Given the description of an element on the screen output the (x, y) to click on. 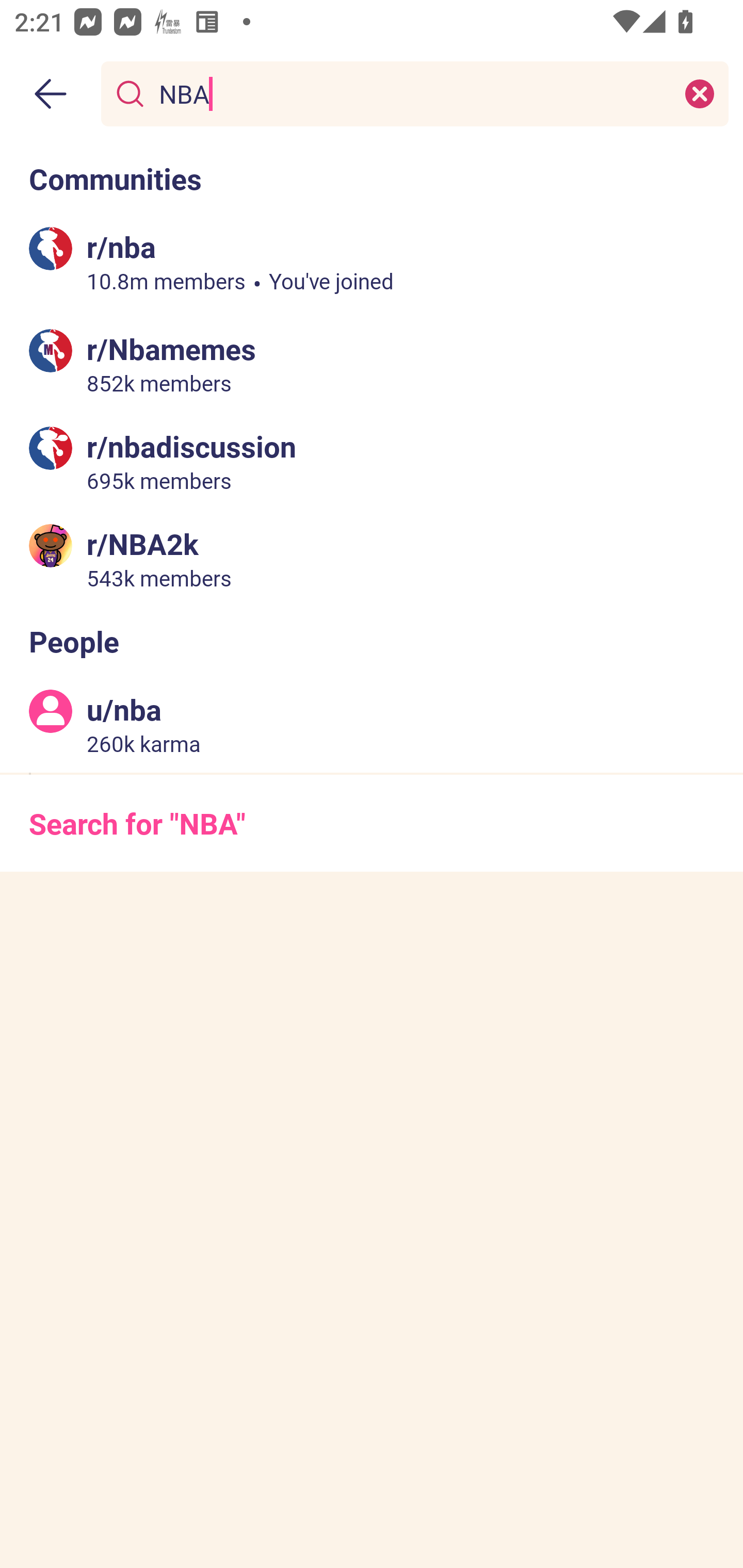
Back (50, 93)
NBA (410, 93)
Clear search (699, 93)
r/Nbamemes 852k members 852 thousand members (371, 363)
r/nbadiscussion 695k members 695 thousand members (371, 460)
r/NBA2k 543k members 543 thousand members (371, 557)
u/nba 260k karma 260 thousand karma (371, 724)
Search for "NBA" (371, 822)
